Given the description of an element on the screen output the (x, y) to click on. 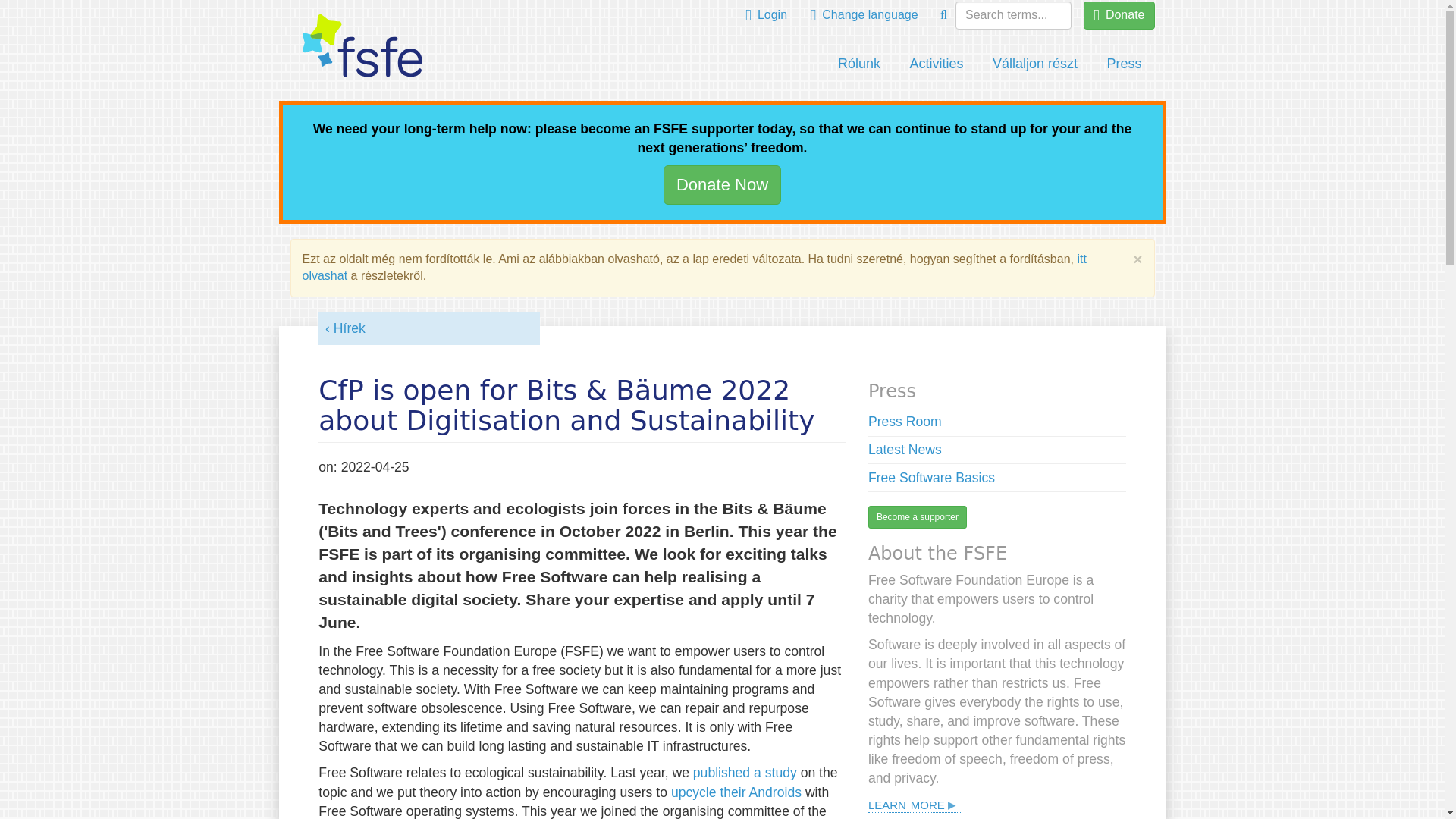
learn more (913, 803)
itt olvashat (693, 266)
upcycle their Androids (736, 792)
Activities (935, 63)
Donate Now (721, 184)
Donate (1118, 15)
Latest News (904, 449)
published a study (744, 772)
Become a supporter (916, 517)
Free Software Basics (930, 477)
Login (765, 15)
Press (1123, 63)
Change language (864, 15)
Press Room (904, 421)
